Given the description of an element on the screen output the (x, y) to click on. 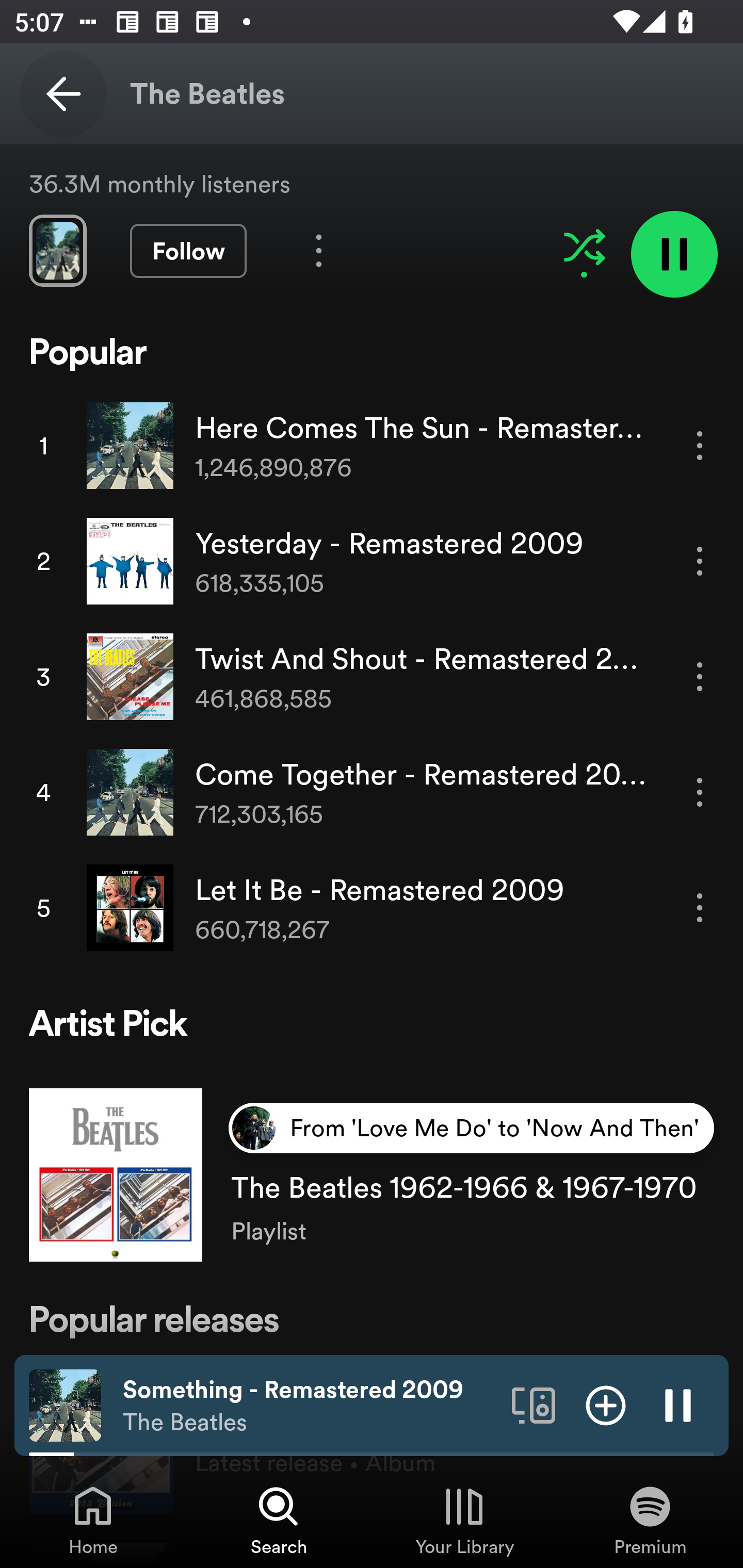
Back (63, 93)
Disable shuffle for this artist (583, 246)
Swipe through previews of tracks from this artist. (57, 250)
More options for artist The Beatles (318, 250)
Pause artist (674, 253)
Follow (188, 250)
More options for song Yesterday - Remastered 2009 (699, 561)
More options for song Let It Be - Remastered 2009 (699, 907)
Something - Remastered 2009 The Beatles (309, 1405)
The cover art of the currently playing track (64, 1404)
Connect to a device. Opens the devices menu (533, 1404)
Add item (605, 1404)
Pause (677, 1404)
Home, Tab 1 of 4 Home Home (92, 1519)
Search, Tab 2 of 4 Search Search (278, 1519)
Your Library, Tab 3 of 4 Your Library Your Library (464, 1519)
Premium, Tab 4 of 4 Premium Premium (650, 1519)
